Given the description of an element on the screen output the (x, y) to click on. 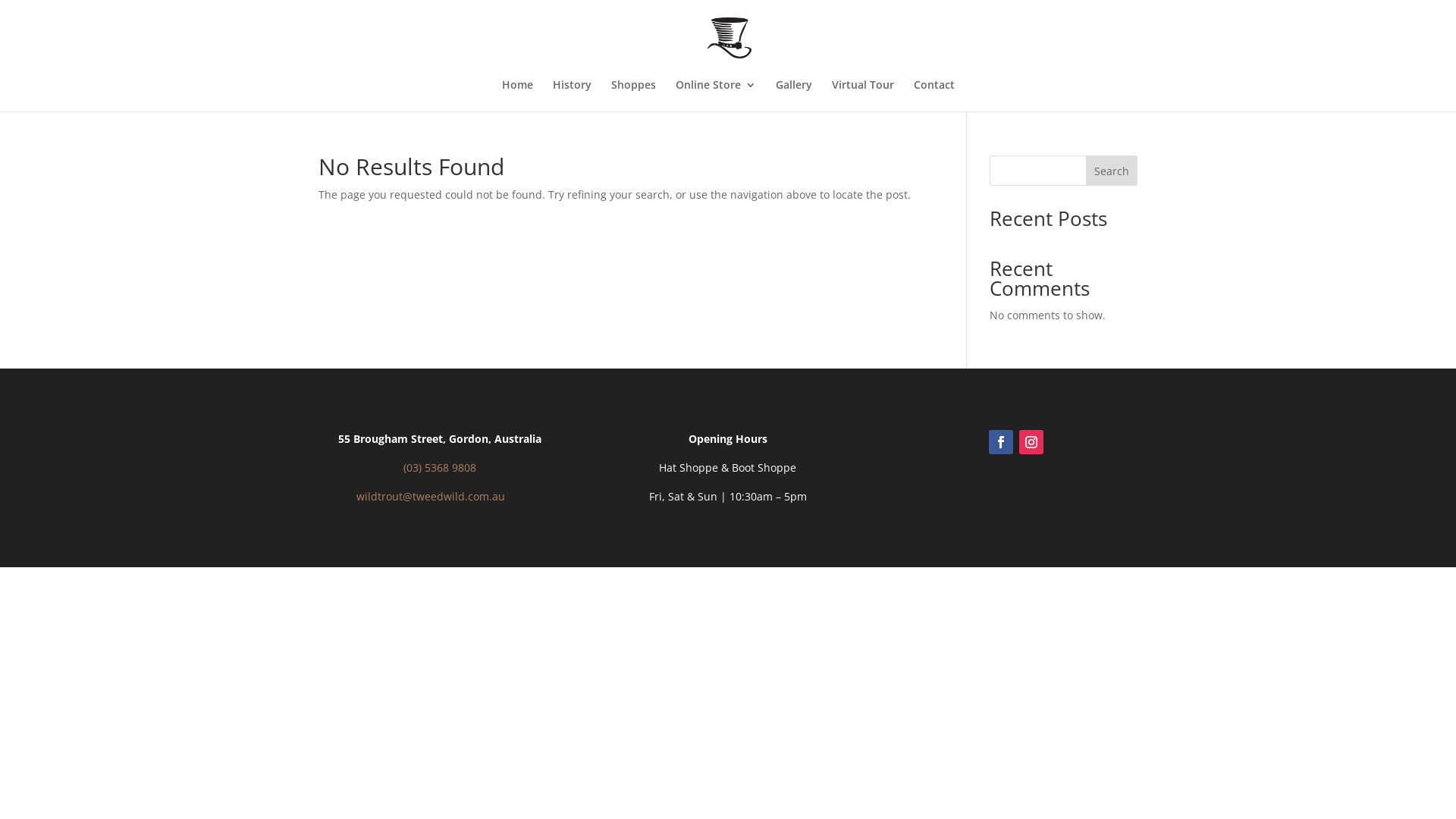
Shoppes Element type: text (633, 95)
Virtual Tour Element type: text (862, 95)
Search Element type: text (1111, 170)
Gallery Element type: text (793, 95)
Online Store Element type: text (714, 95)
Follow on Instagram Element type: hover (1031, 441)
Home Element type: text (517, 95)
Follow on Facebook Element type: hover (1000, 441)
History Element type: text (571, 95)
(03) 5368 9808 Element type: text (439, 467)
wildtrout@tweedwild.com.au Element type: text (430, 496)
Contact Element type: text (933, 95)
